Given the description of an element on the screen output the (x, y) to click on. 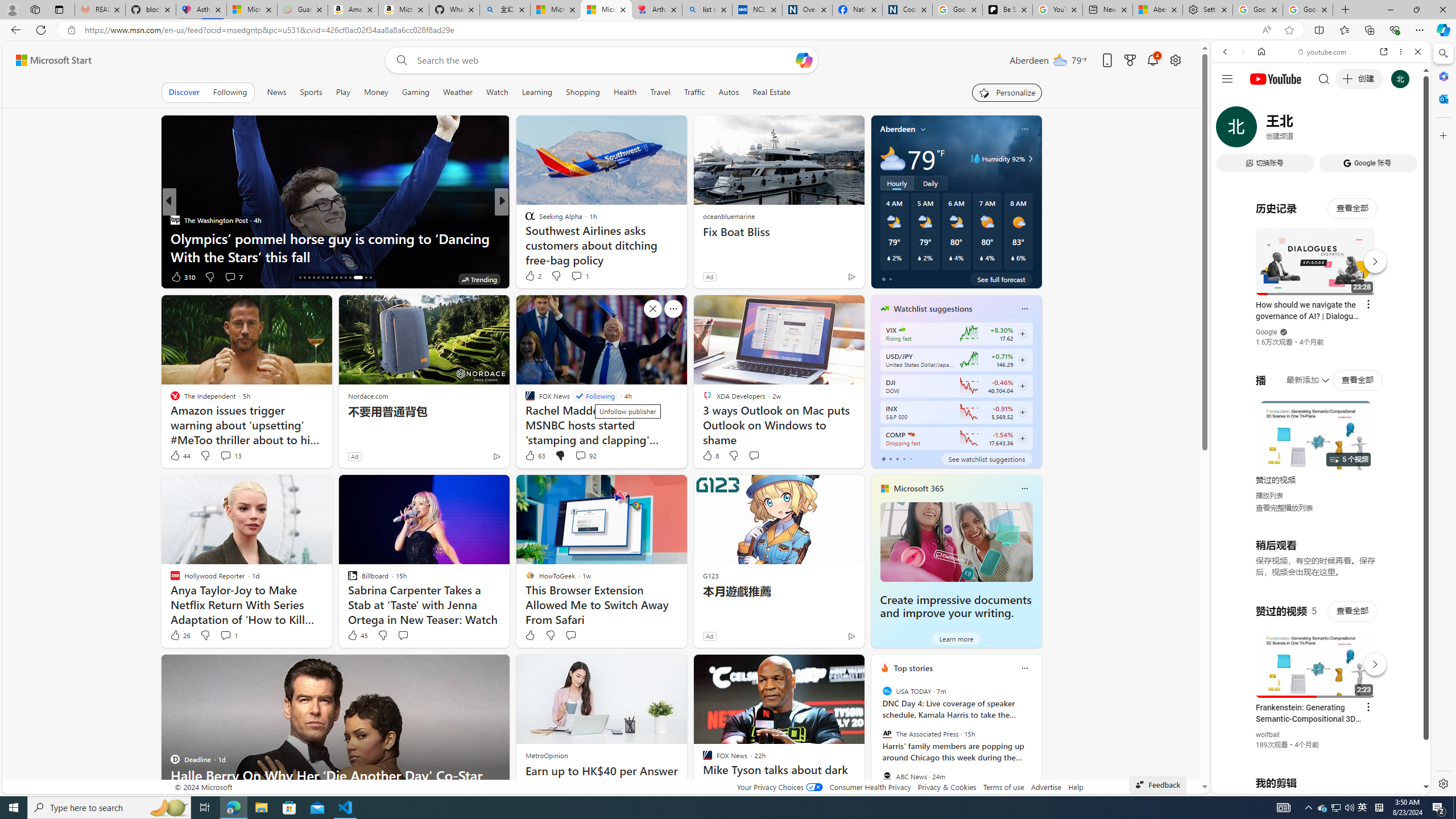
63 Like (534, 455)
Advertise (1045, 786)
Earn up to HK$40 per Answer (601, 771)
Class: weather-arrow-glyph (1029, 158)
Preferences (1403, 129)
Following (229, 92)
Money (376, 92)
Class: weather-current-precipitation-glyph (1012, 257)
Shopping (582, 92)
Start the conversation (570, 634)
previous (876, 741)
